Given the description of an element on the screen output the (x, y) to click on. 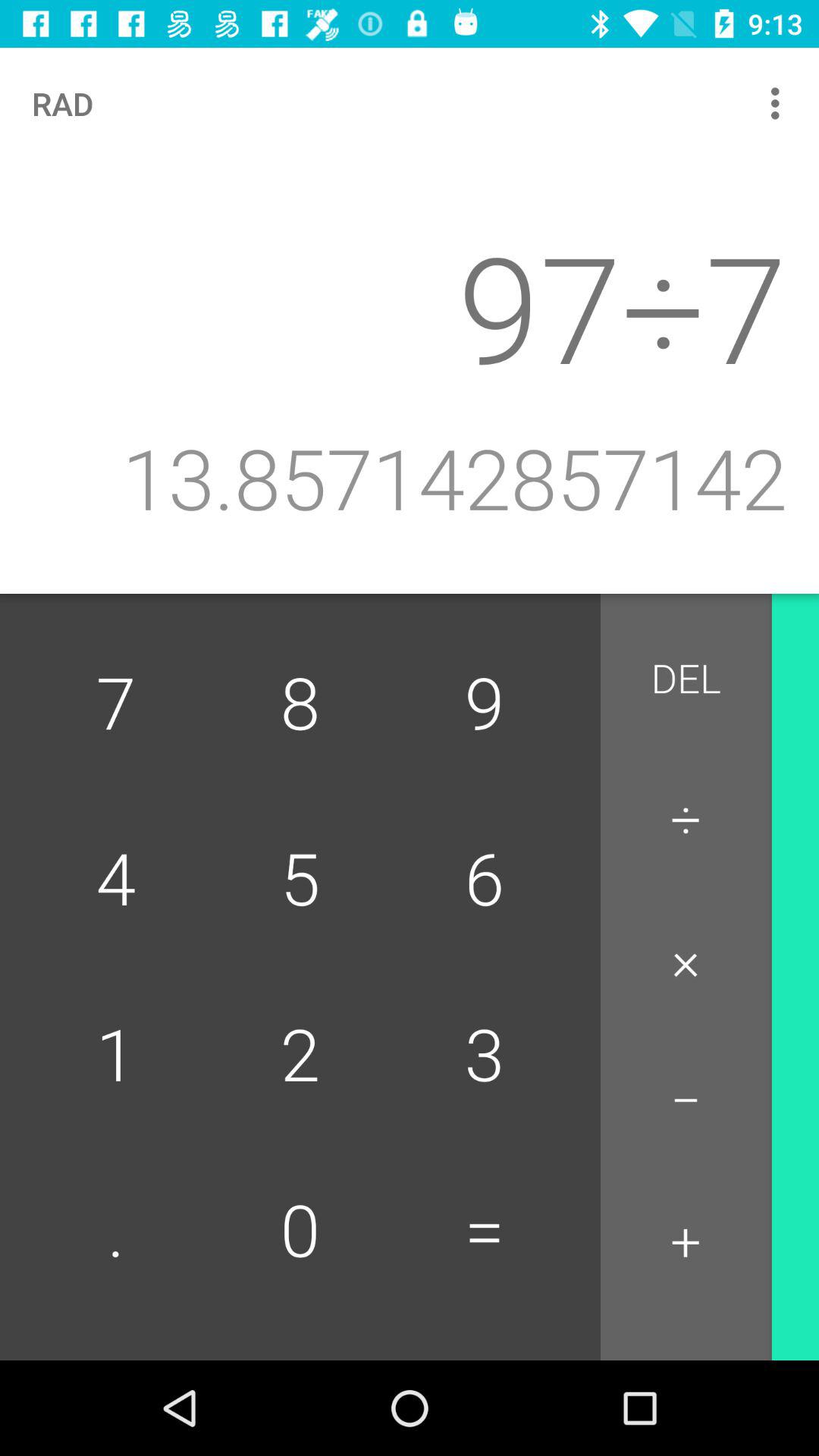
click the button above . icon (300, 1056)
